Given the description of an element on the screen output the (x, y) to click on. 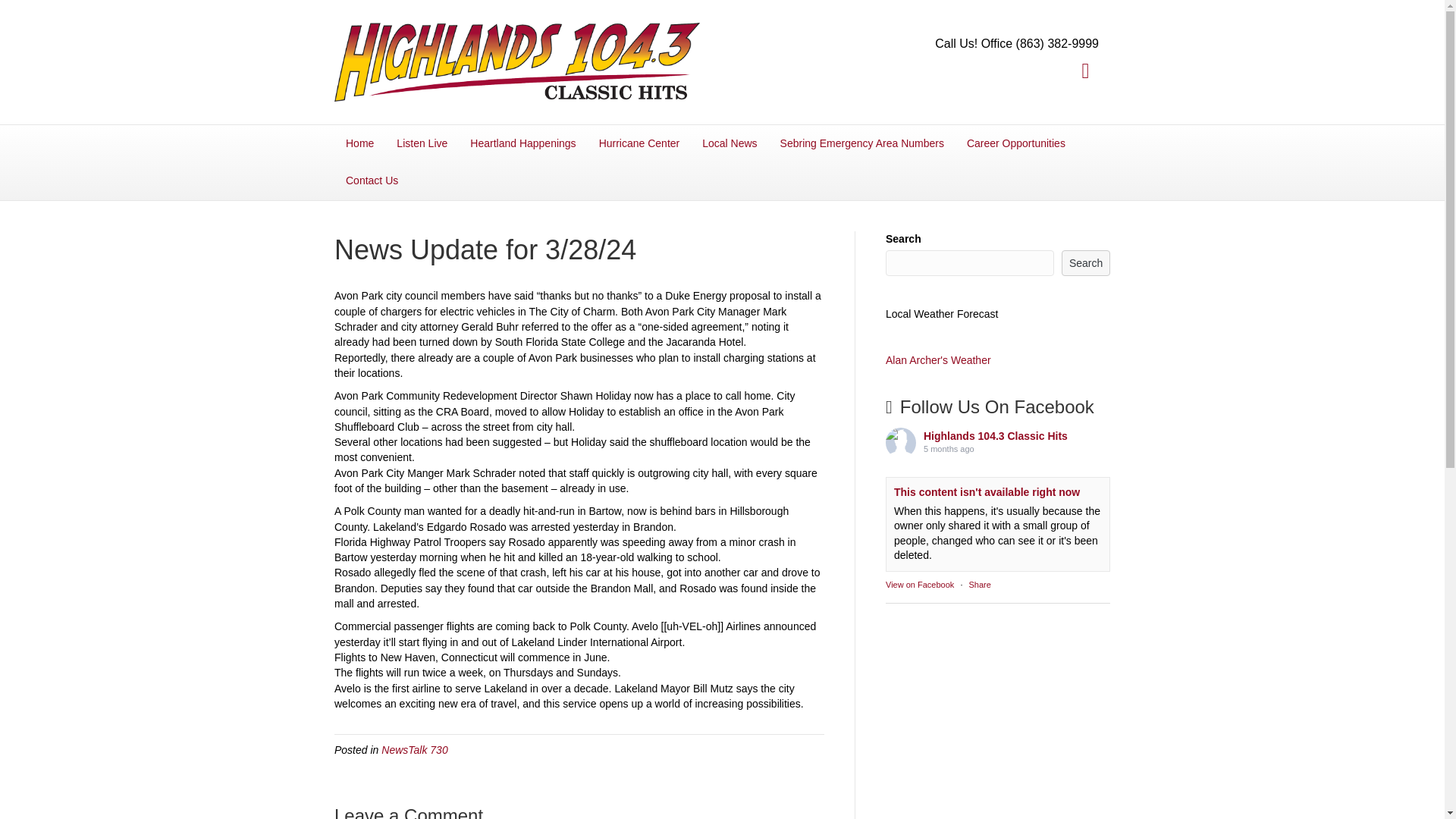
Share (980, 583)
Contact Us (371, 180)
Search (1085, 263)
Sebring Emergency Area Numbers (861, 143)
Alan Archer's Weather (938, 359)
This content isn't available right now (986, 491)
Career Opportunities (1016, 143)
Highlands 104.3 Classic Hits (900, 442)
Listen Live (421, 143)
Facebook (1085, 70)
